Given the description of an element on the screen output the (x, y) to click on. 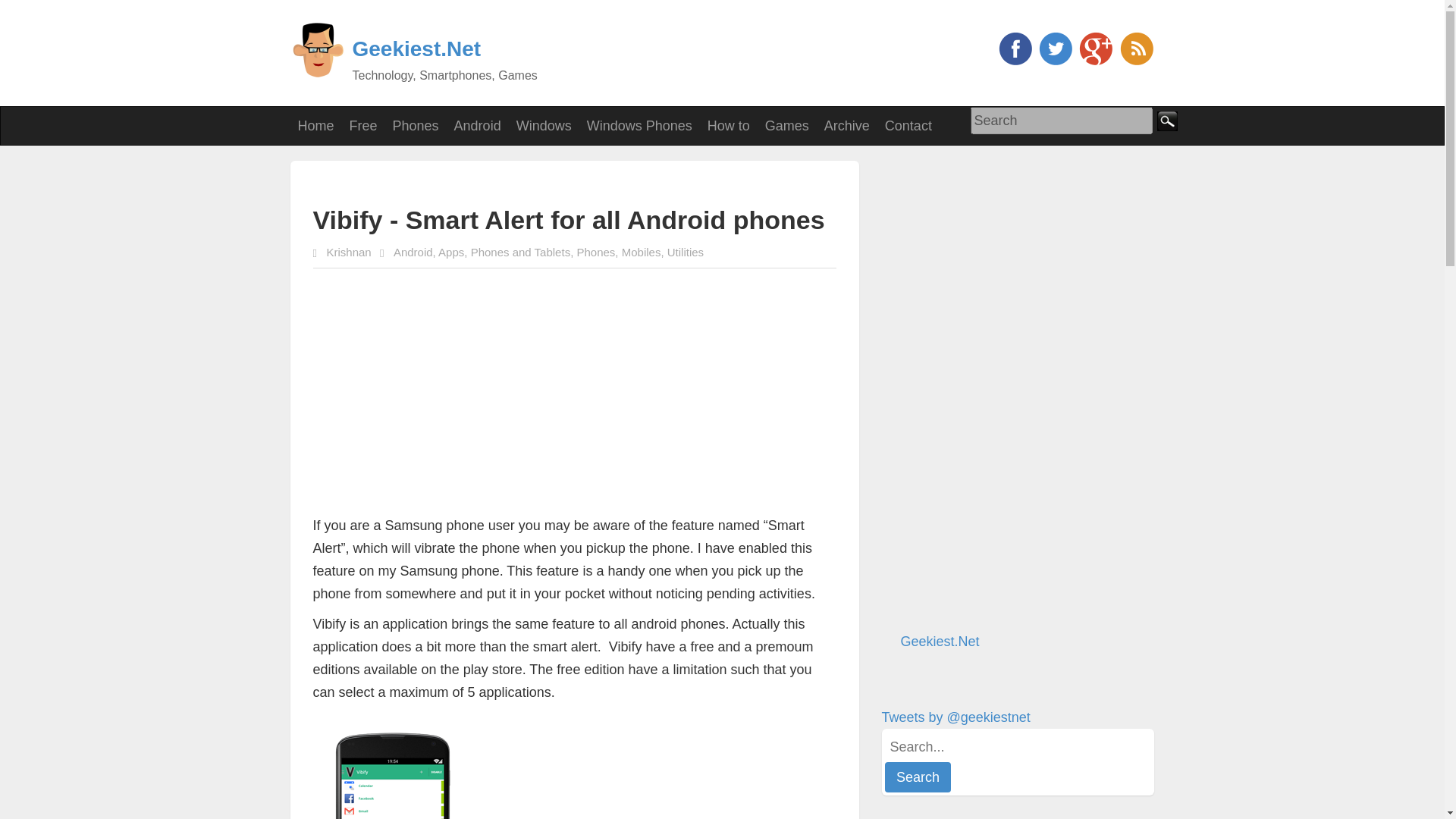
Apps (451, 251)
Archive (846, 125)
Mobiles (641, 251)
Geekiest.Net (940, 641)
Geekiest.Net (416, 48)
Android (412, 251)
Phones and Tablets (520, 251)
Phones (595, 251)
Windows (543, 125)
Free (363, 125)
